Given the description of an element on the screen output the (x, y) to click on. 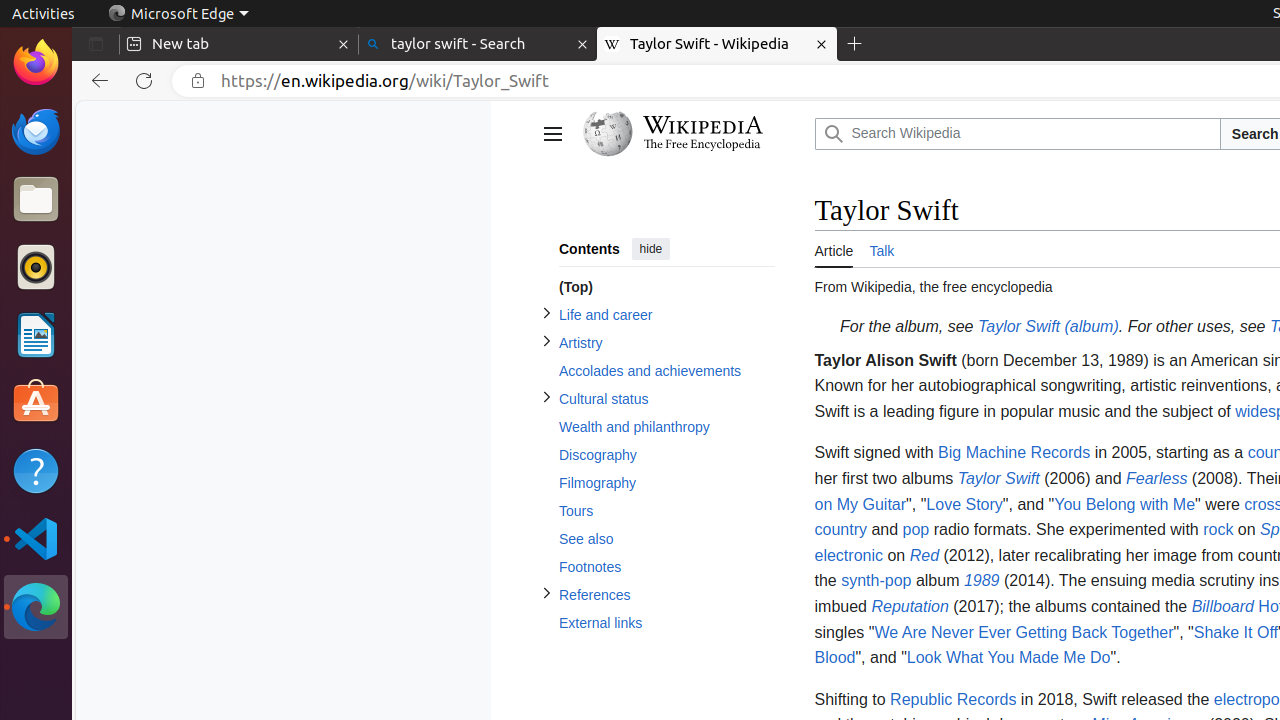
Ubuntu Software Element type: push-button (36, 402)
1989 Element type: link (981, 581)
Wealth and philanthropy Element type: link (666, 427)
Reputation Element type: link (910, 606)
Article Element type: link (834, 248)
